Given the description of an element on the screen output the (x, y) to click on. 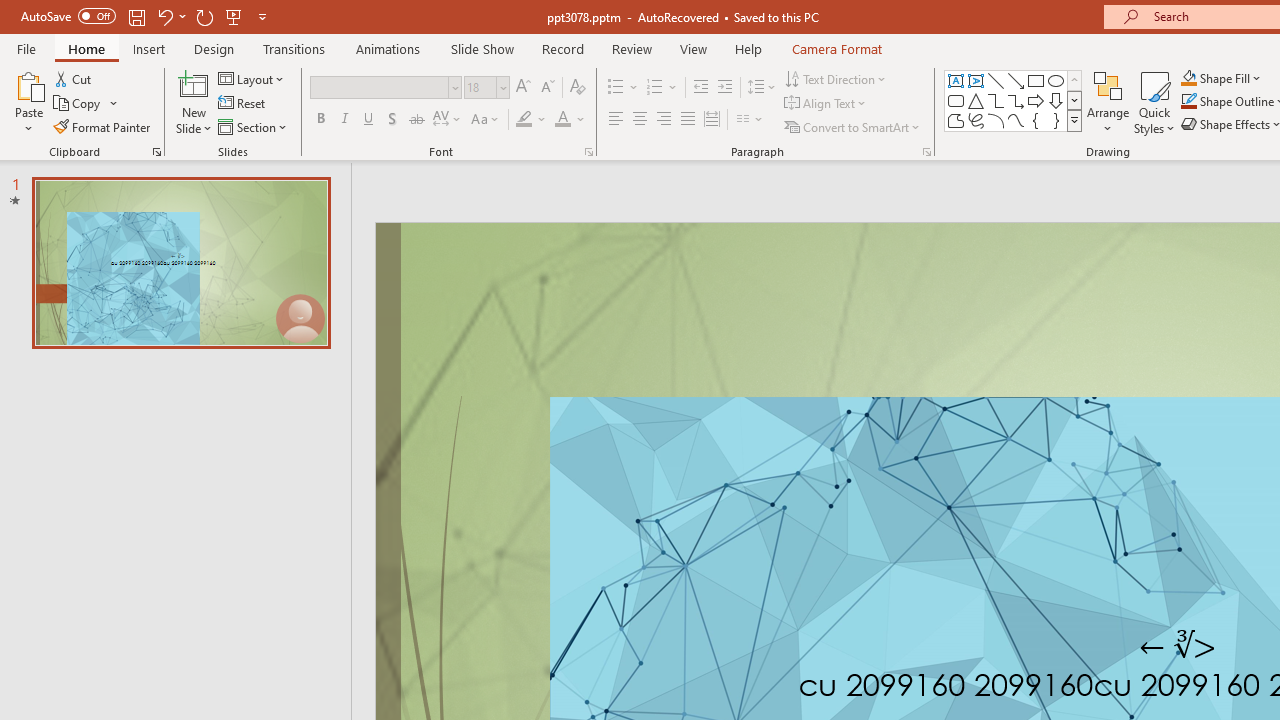
TextBox 7 (1178, 646)
Increase Font Size (522, 87)
Connector: Elbow (995, 100)
Line (995, 80)
Arrow: Right (1035, 100)
Arrow: Down (1055, 100)
Numbering (654, 87)
Animations (388, 48)
Design (214, 48)
Align Right (663, 119)
Shapes (1074, 120)
